Given the description of an element on the screen output the (x, y) to click on. 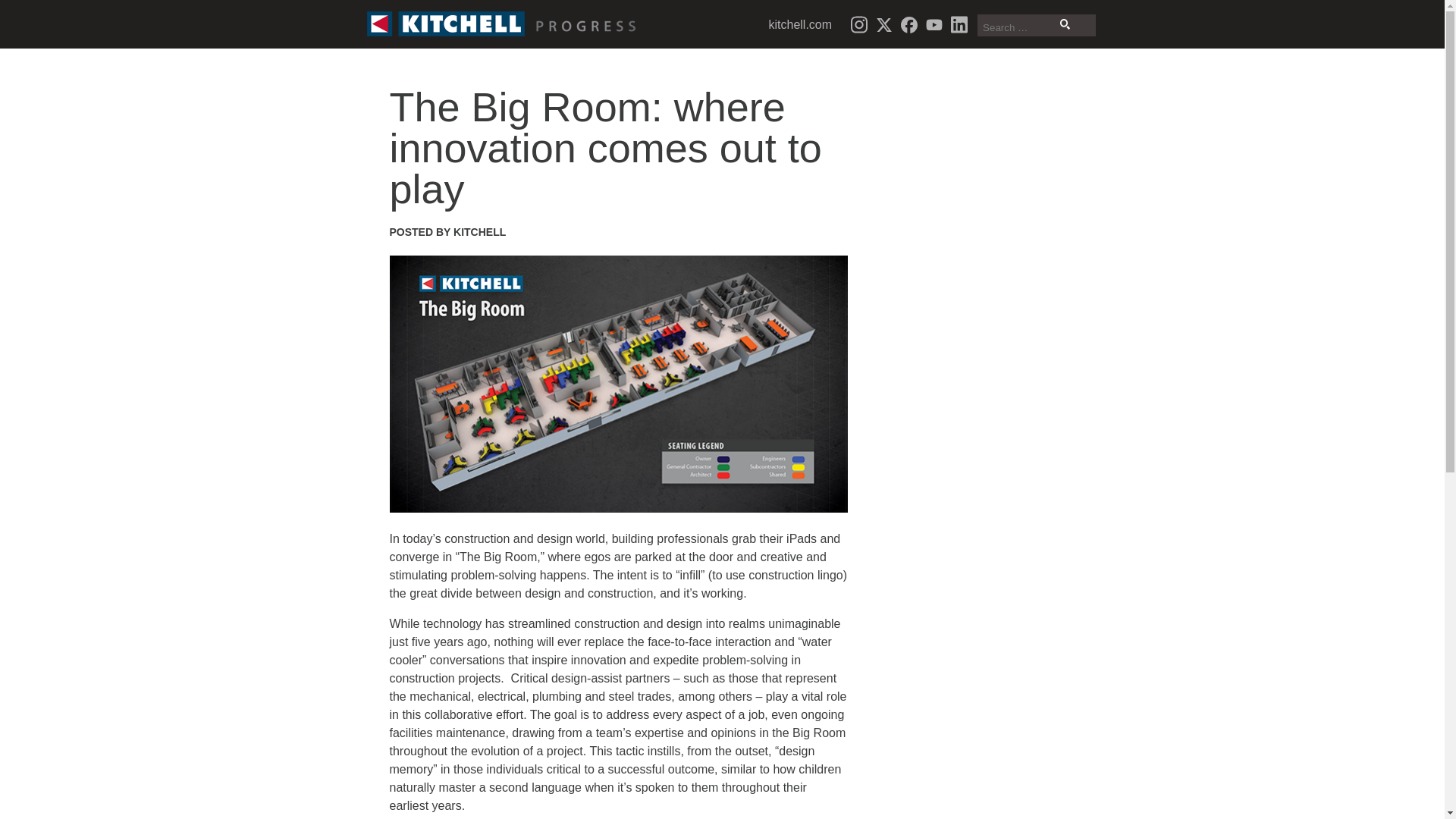
kitchell.com (800, 24)
Kitchell Progress (504, 23)
Kitchell Progress (504, 23)
Search (1064, 23)
